Given the description of an element on the screen output the (x, y) to click on. 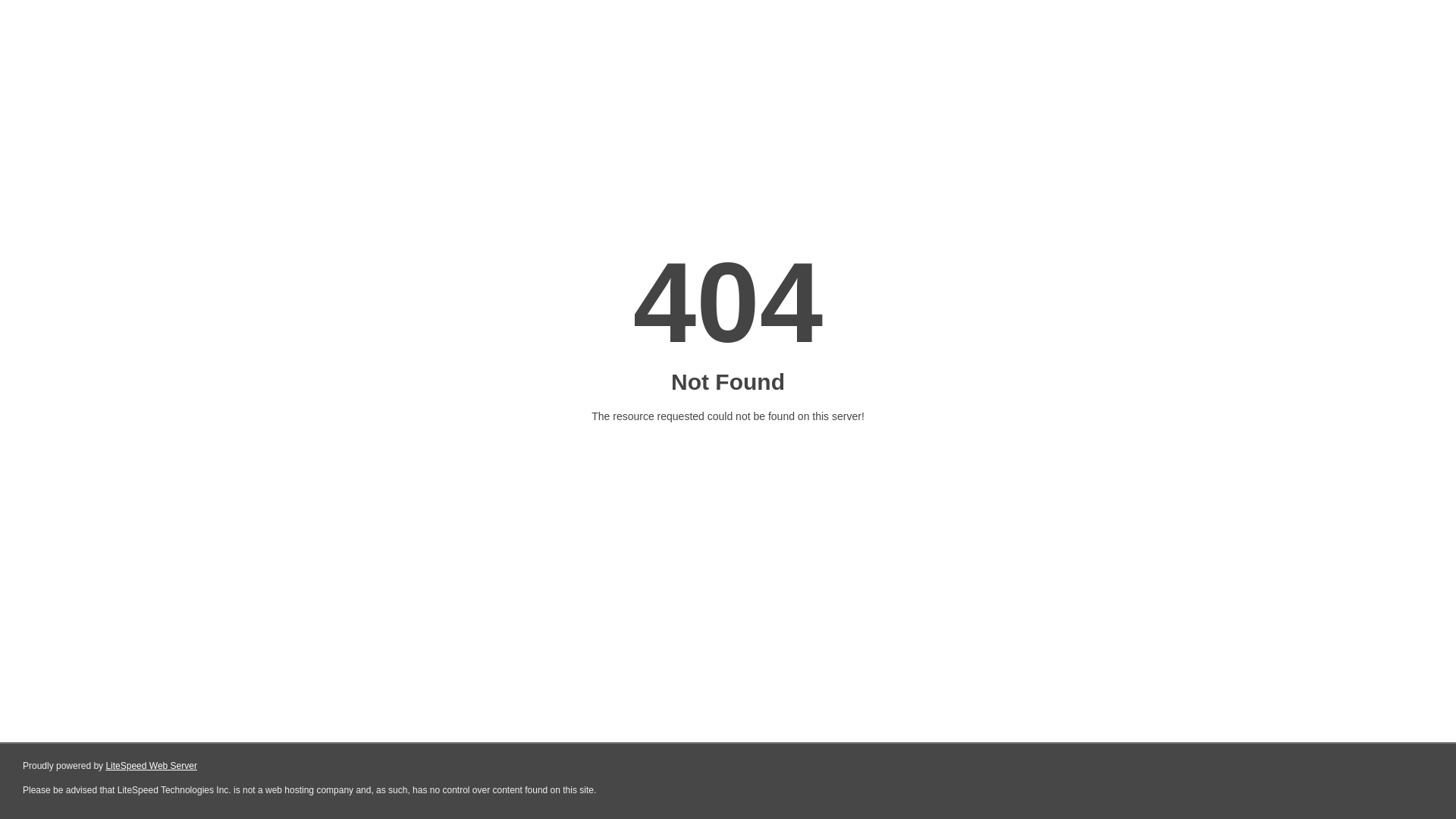
LiteSpeed Web Server Element type: text (151, 765)
